Given the description of an element on the screen output the (x, y) to click on. 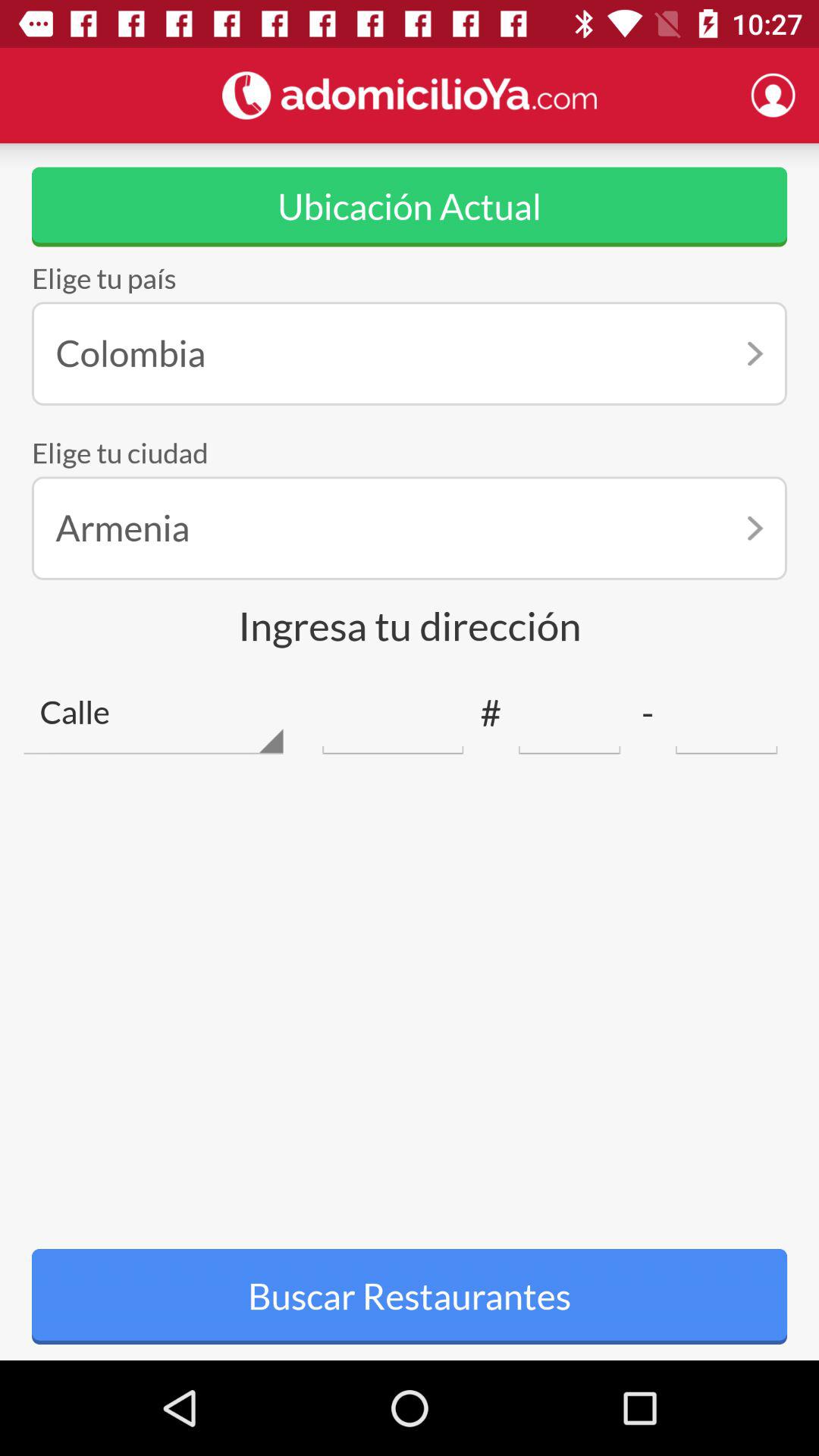
enter phone number (569, 713)
